Given the description of an element on the screen output the (x, y) to click on. 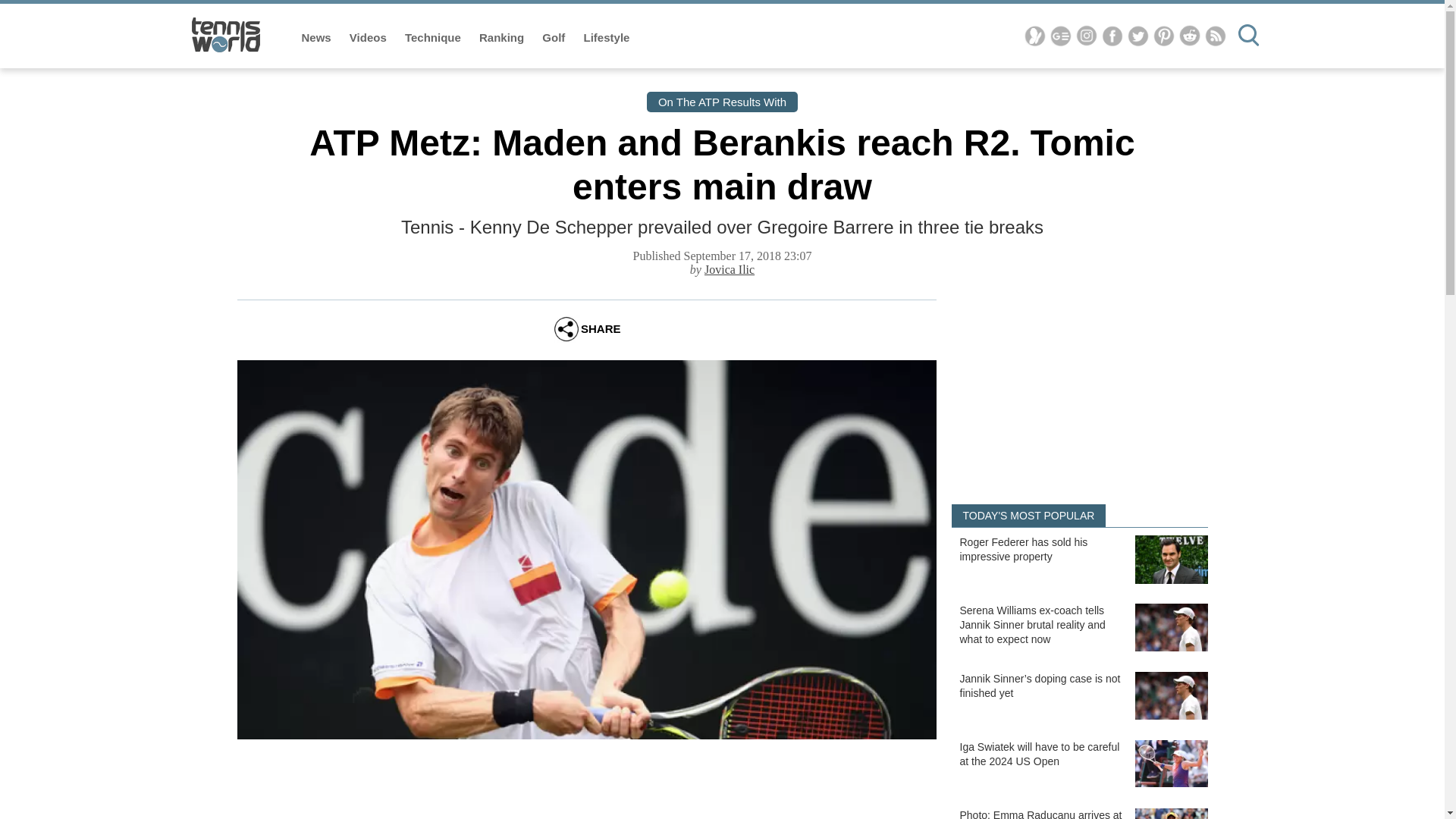
Technique (434, 37)
News (317, 37)
Golf (554, 37)
Lifestyle (606, 37)
Videos (369, 37)
Ranking (503, 37)
